Given the description of an element on the screen output the (x, y) to click on. 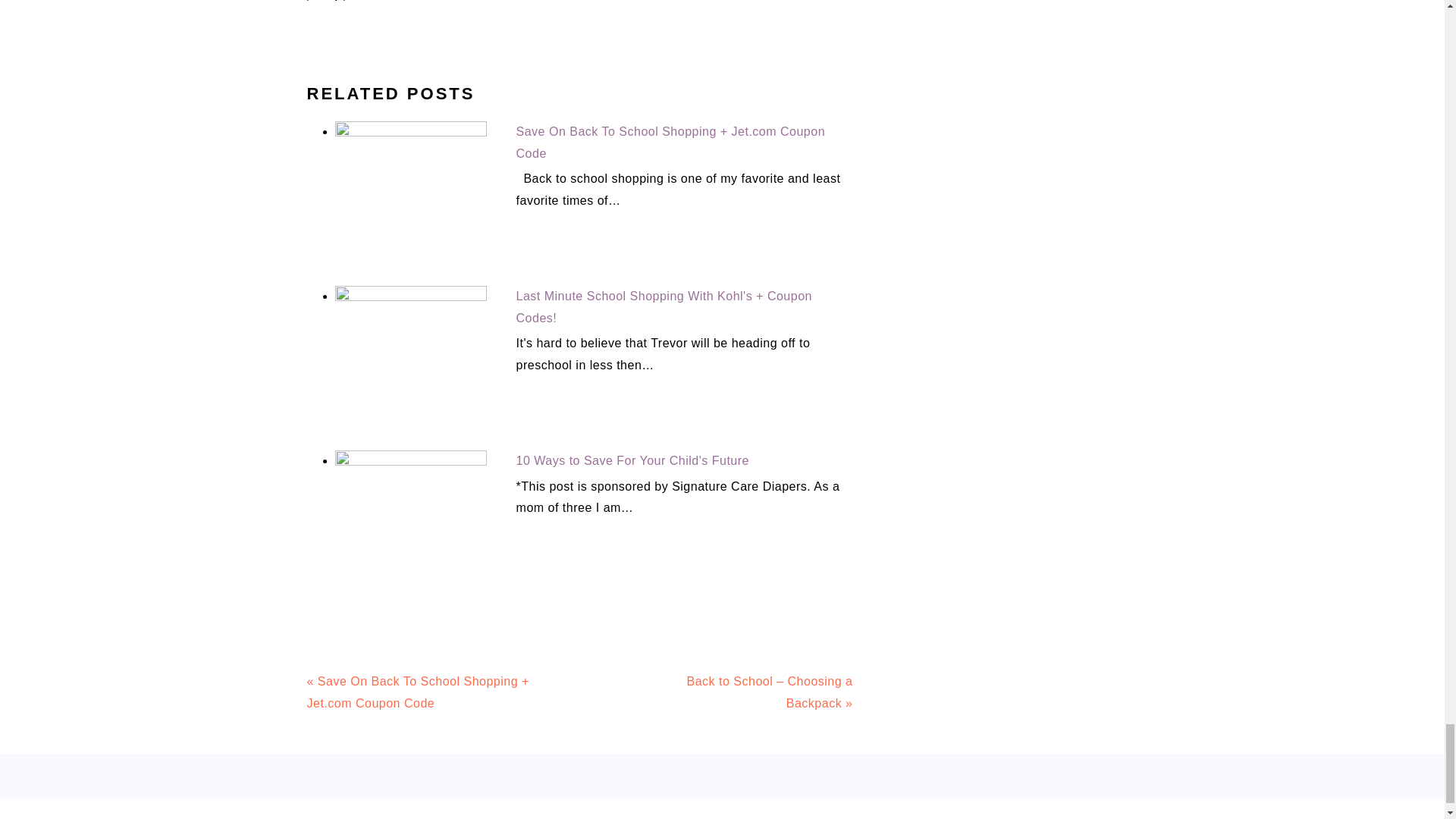
10 Ways to Save For Your Child's Future (632, 460)
